Given the description of an element on the screen output the (x, y) to click on. 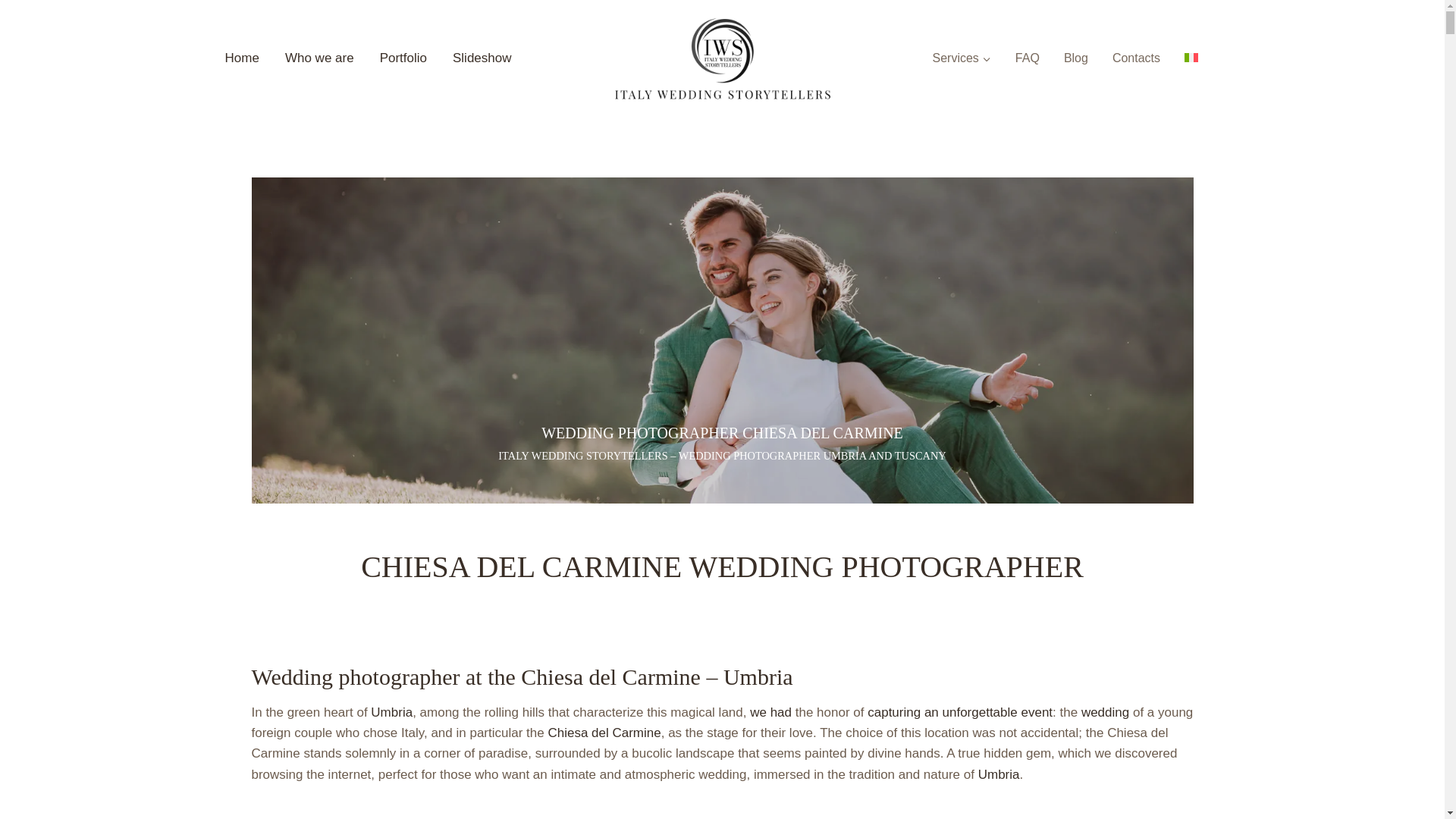
we had (770, 712)
FAQ (1027, 58)
Umbria (999, 774)
Slideshow (481, 58)
wedding (1105, 712)
Blog (1075, 58)
Home (242, 58)
Slideshow (481, 58)
Portfolio (402, 58)
Umbria (391, 712)
Contacts (1136, 58)
Chiesa del Carmine (604, 732)
Who we are (319, 58)
Wedding photographer Umbria Tuscany (242, 58)
Services (961, 58)
